Given the description of an element on the screen output the (x, y) to click on. 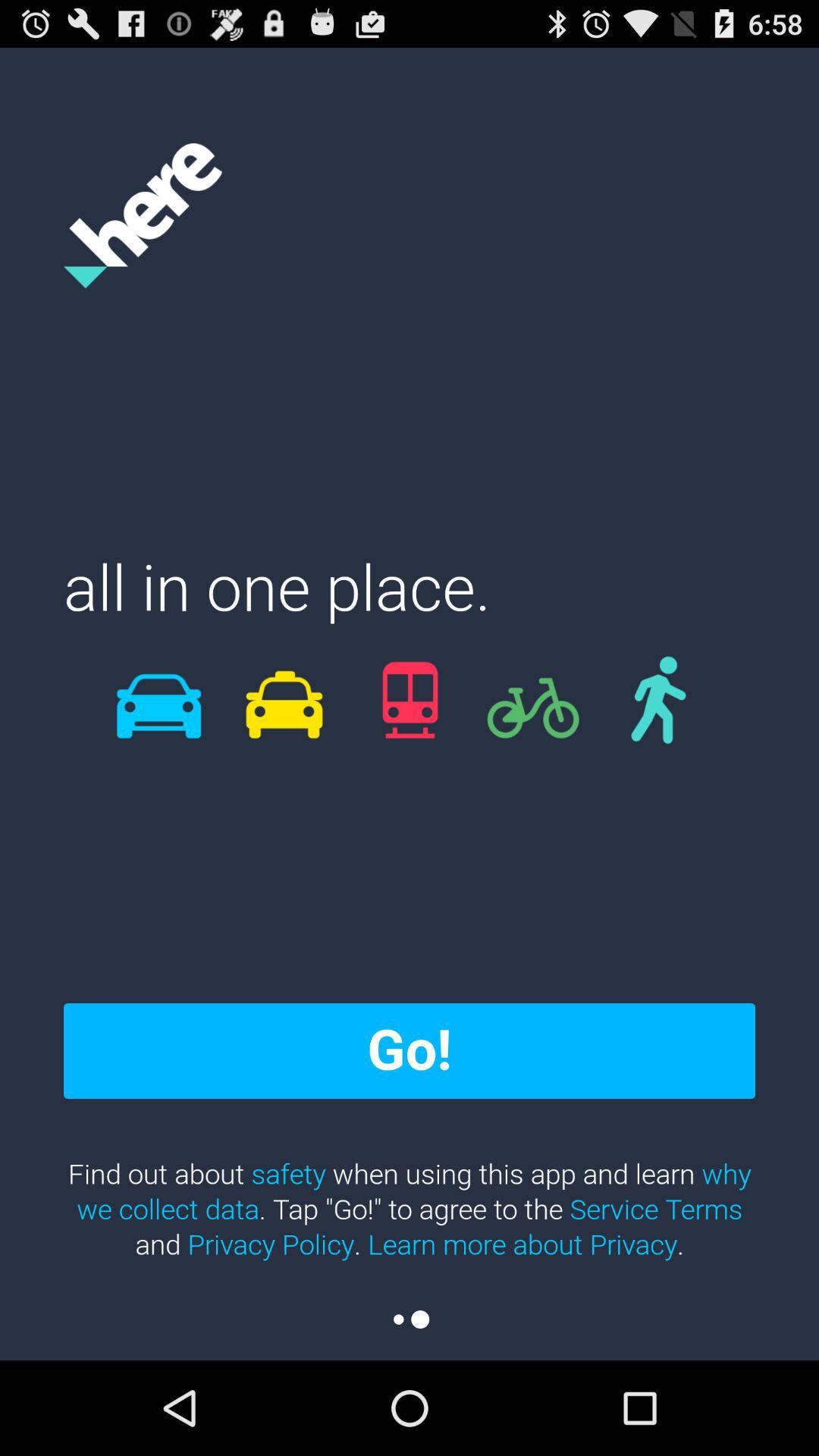
select the go! item (409, 1050)
